Given the description of an element on the screen output the (x, y) to click on. 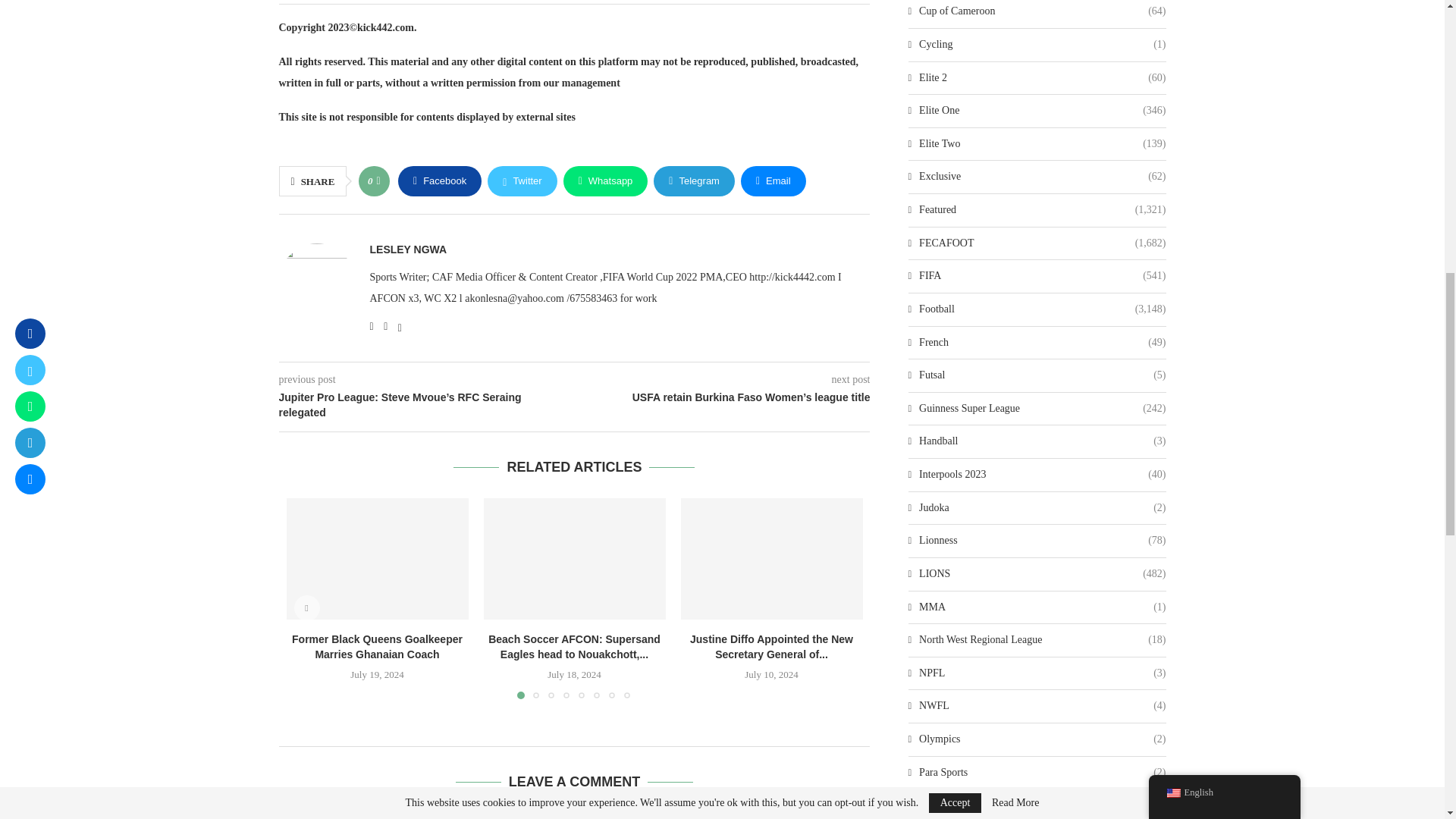
Author Lesley Ngwa (407, 249)
Former Black Queens Goalkeeper Marries Ghanaian Coach (377, 558)
